Given the description of an element on the screen output the (x, y) to click on. 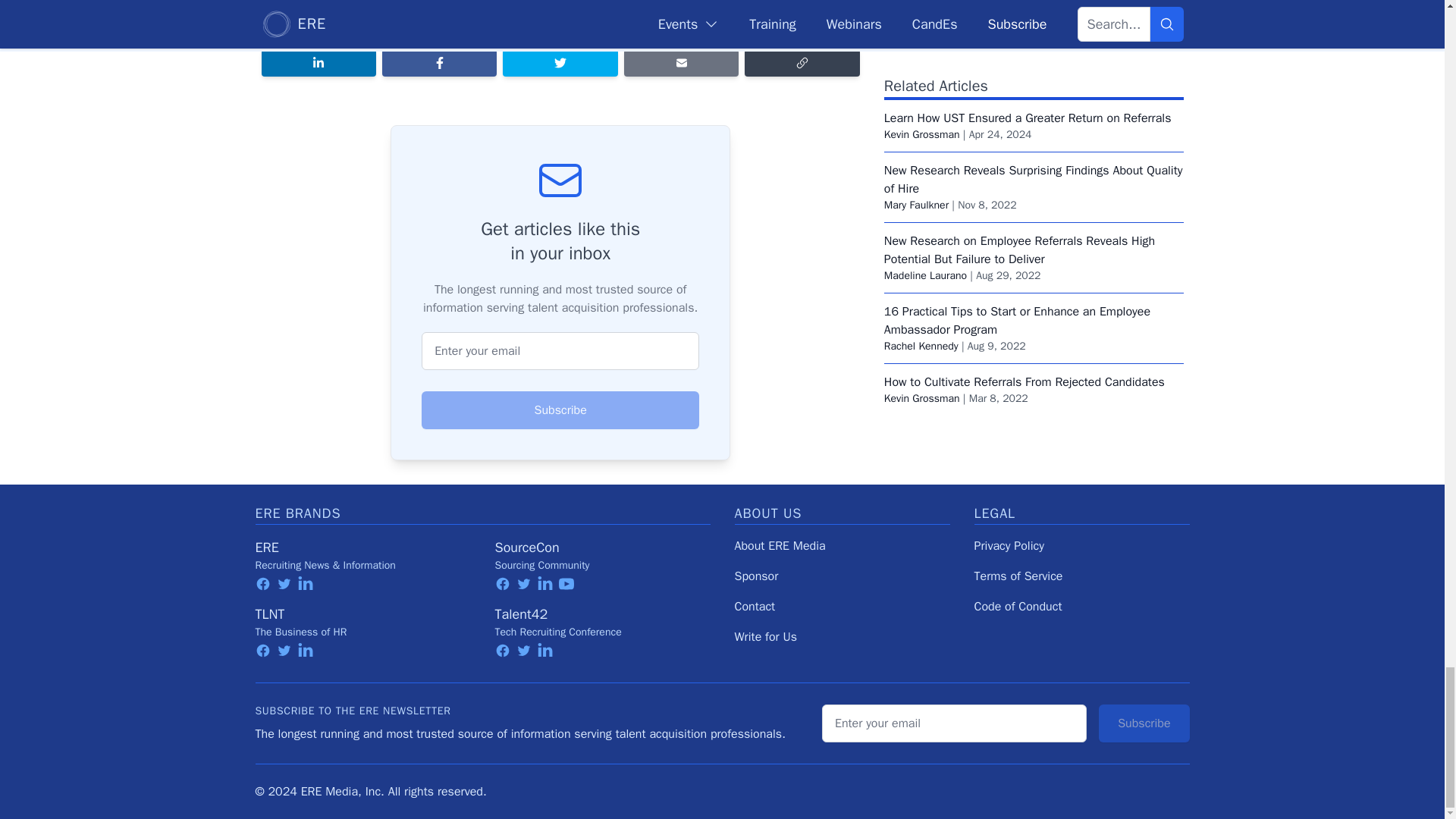
linkedin (305, 583)
TLNT (268, 614)
Subscribe (560, 410)
twitter (283, 583)
facebook (261, 650)
facebook (261, 583)
ERE (266, 547)
